Given the description of an element on the screen output the (x, y) to click on. 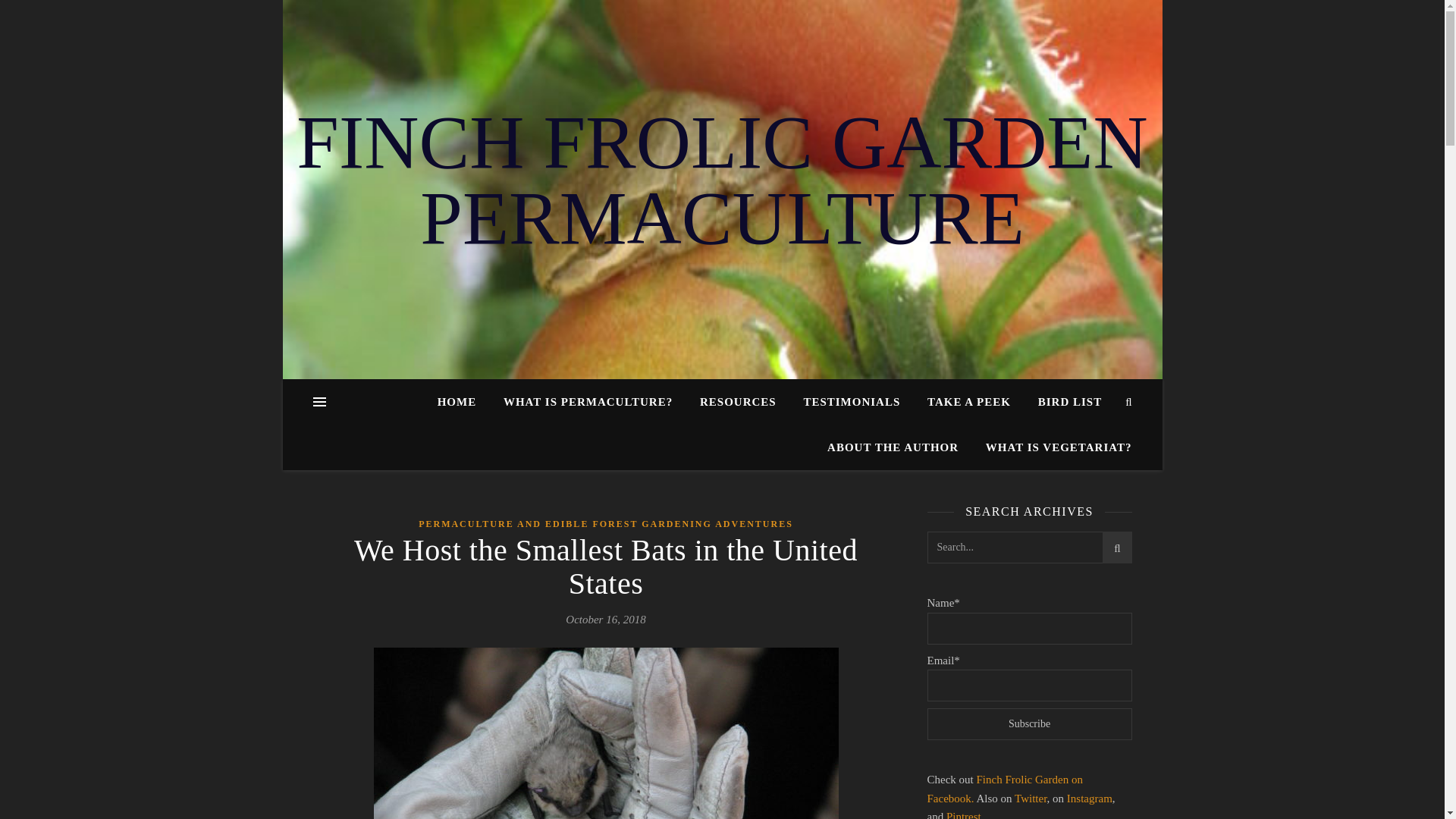
PERMACULTURE AND EDIBLE FOREST GARDENING ADVENTURES (606, 524)
Subscribe (1028, 724)
BIRD LIST (1069, 402)
WHAT IS VEGETARIAT? (1053, 447)
RESOURCES (738, 402)
ABOUT THE AUTHOR (893, 447)
FINCH FROLIC GARDEN PERMACULTURE (721, 180)
TAKE A PEEK (969, 402)
TESTIMONIALS (851, 402)
HOME (463, 402)
WHAT IS PERMACULTURE? (588, 402)
